Given the description of an element on the screen output the (x, y) to click on. 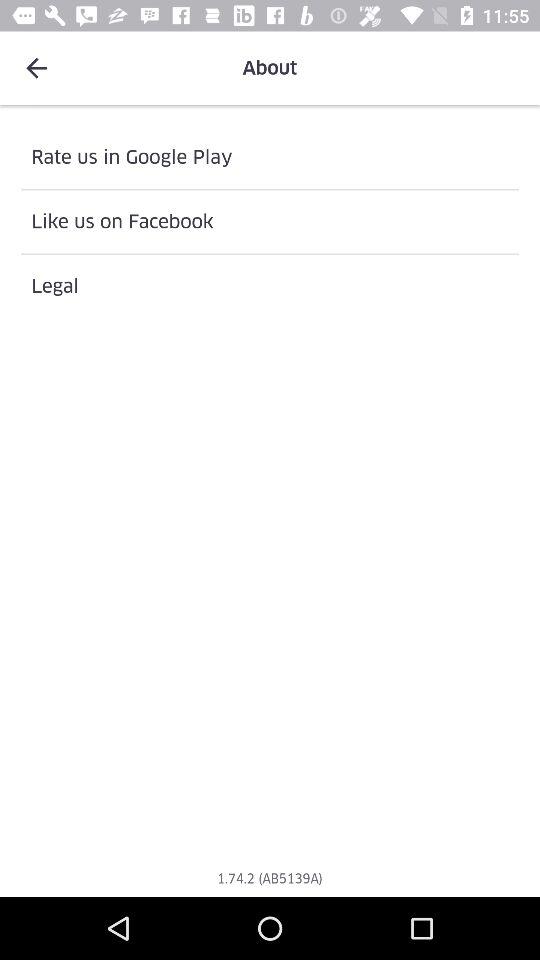
press icon next to the about (36, 68)
